Given the description of an element on the screen output the (x, y) to click on. 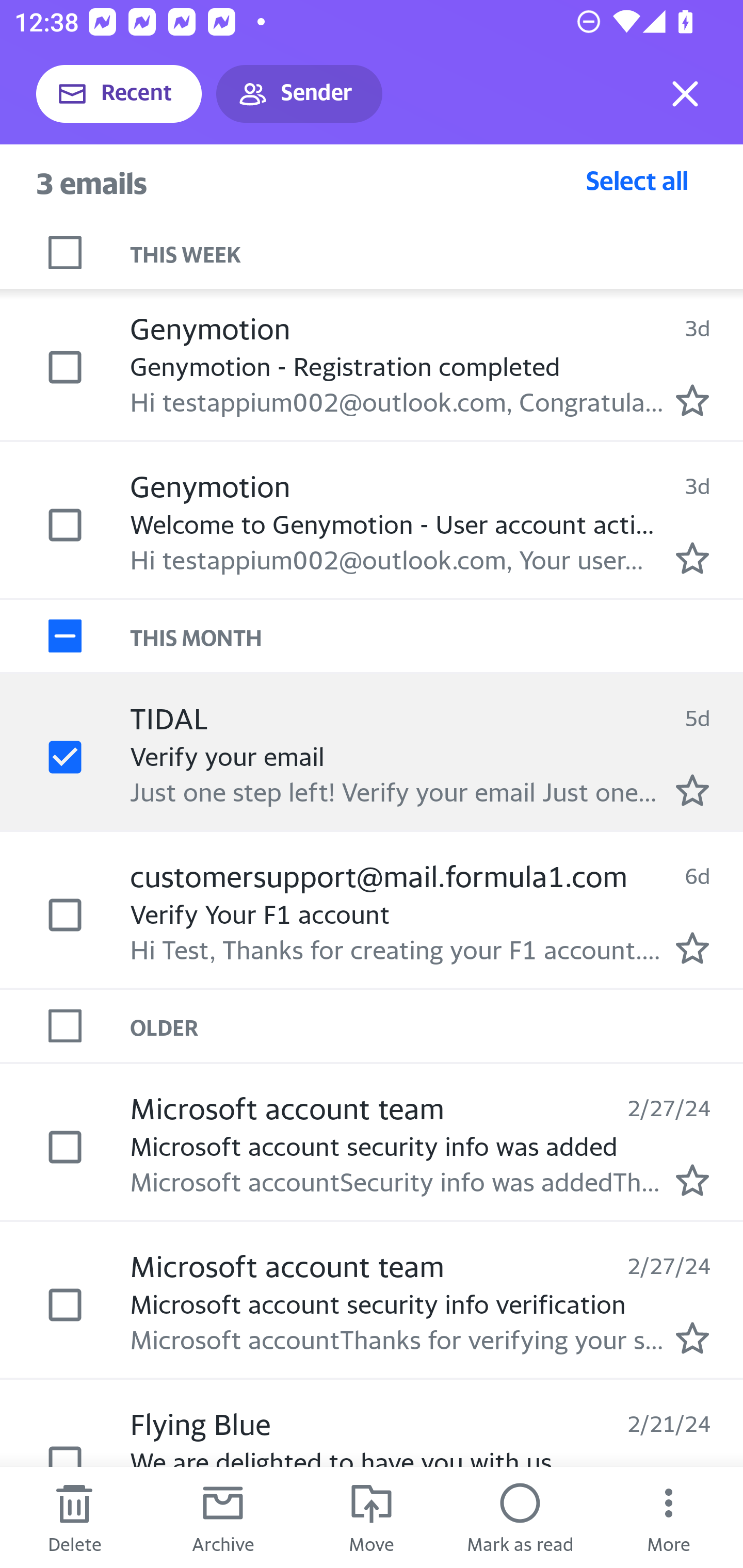
Sender (299, 93)
Exit selection mode (684, 93)
Select all (637, 180)
Mark as starred. (692, 400)
Mark as starred. (692, 557)
THIS MONTH (436, 635)
Mark as starred. (692, 789)
Mark as starred. (692, 947)
OLDER (436, 1025)
Mark as starred. (692, 1179)
Mark as starred. (692, 1338)
Delete (74, 1517)
Archive (222, 1517)
Move (371, 1517)
Mark as read (519, 1517)
More (668, 1517)
